Given the description of an element on the screen output the (x, y) to click on. 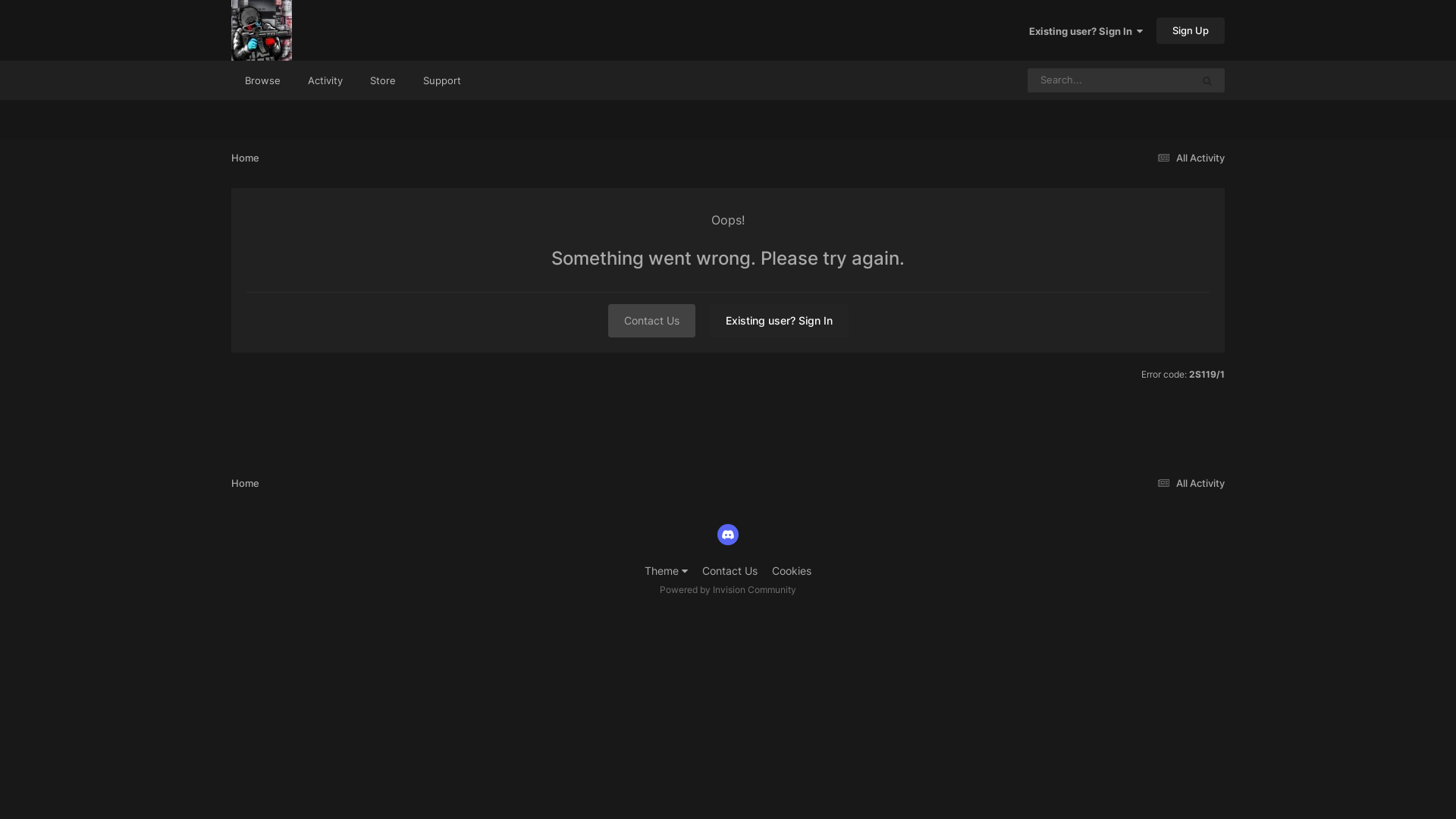
Contact Us Element type: text (729, 570)
Existing user? Sign In   Element type: text (1085, 31)
Theme Element type: text (665, 570)
Support Element type: text (441, 80)
All Activity Element type: text (1188, 482)
Store Element type: text (382, 80)
Existing user? Sign In Element type: text (778, 320)
Browse Element type: text (262, 80)
Home Element type: text (245, 157)
Powered by Invision Community Element type: text (727, 589)
Contact Us Element type: text (651, 320)
Home Element type: text (245, 482)
Cookies Element type: text (791, 570)
Activity Element type: text (325, 80)
Sign Up Element type: text (1190, 29)
All Activity Element type: text (1188, 157)
